Given the description of an element on the screen output the (x, y) to click on. 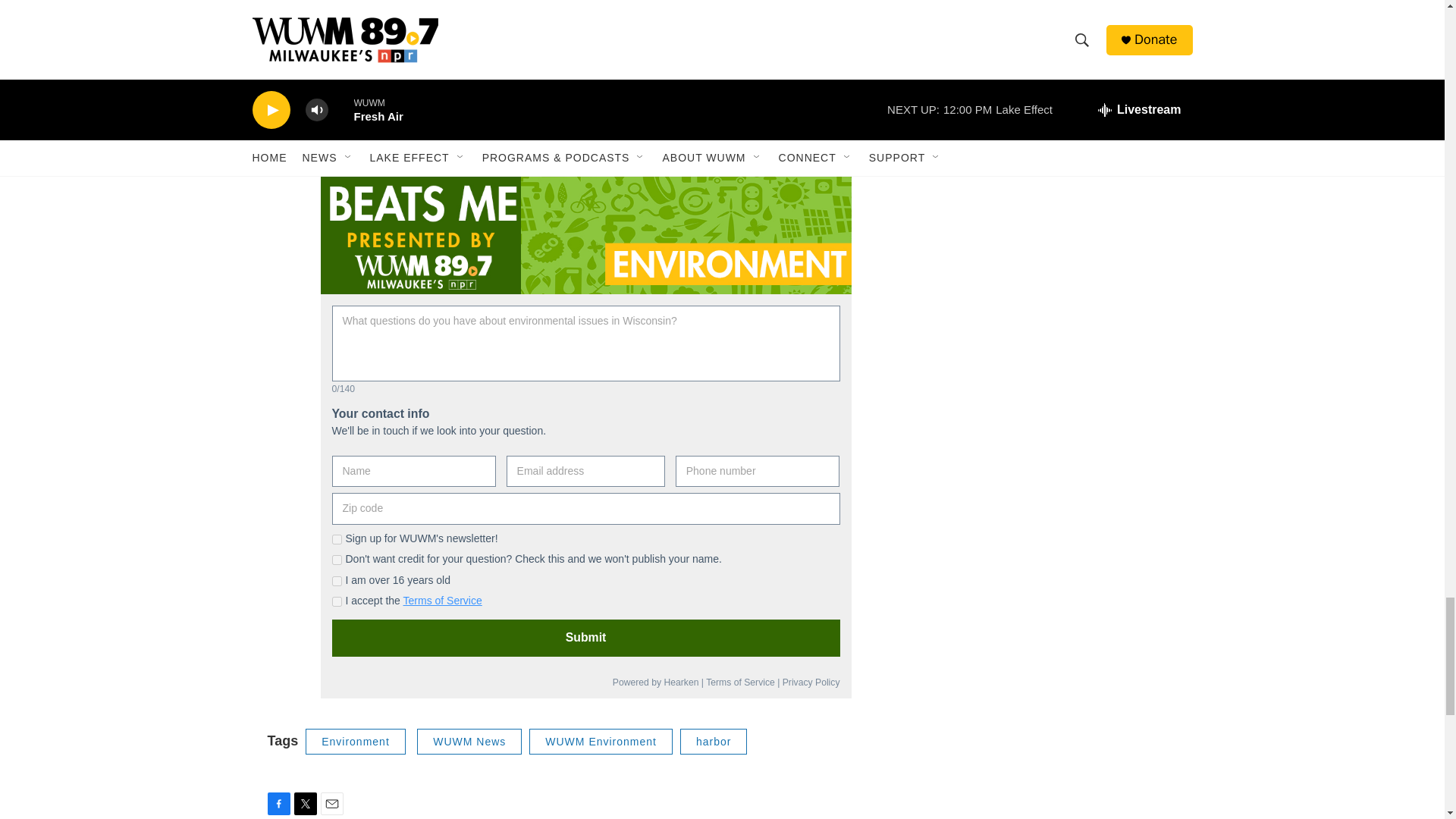
on (336, 560)
on (336, 601)
on (336, 581)
on (336, 539)
